Given the description of an element on the screen output the (x, y) to click on. 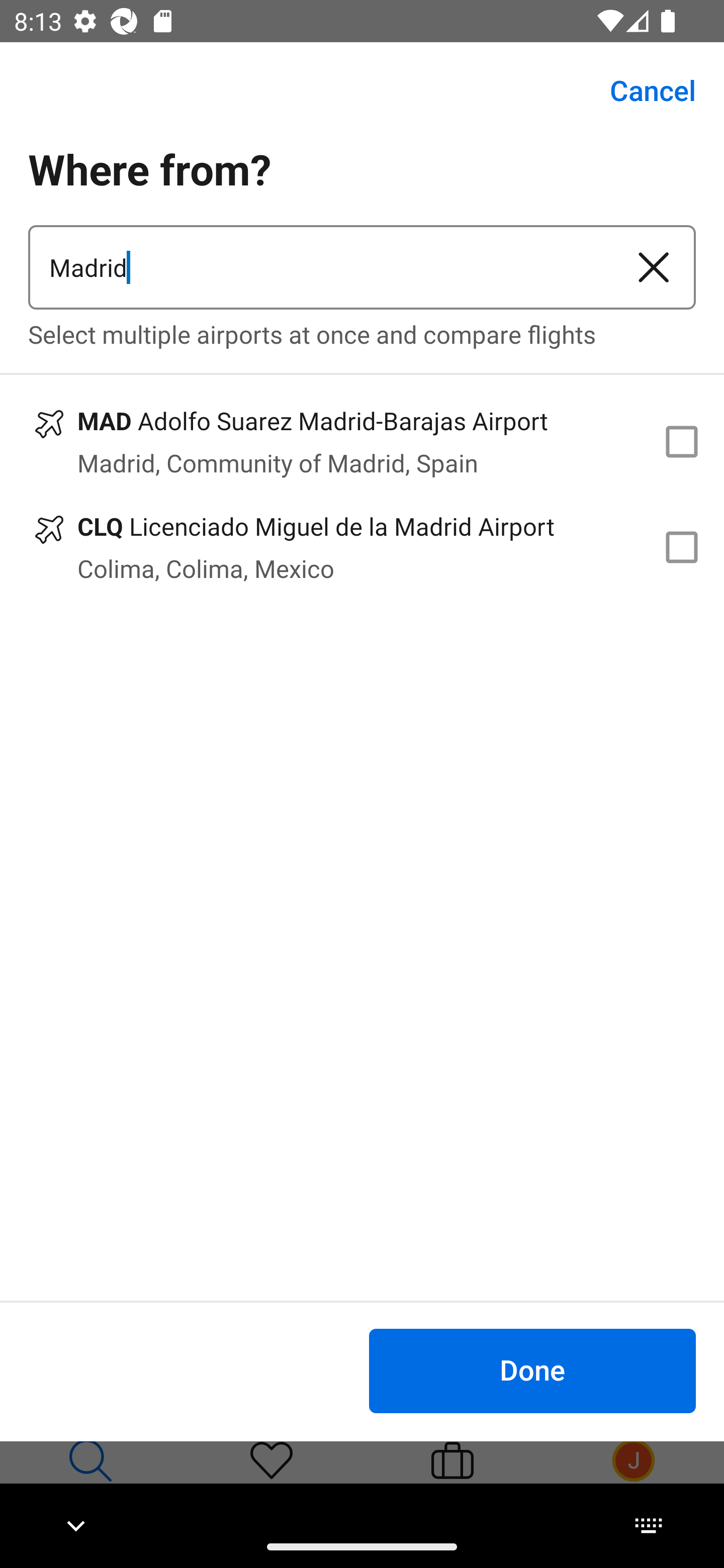
Cancel (641, 90)
Madrid (319, 266)
Clear airport or city (653, 266)
Done (532, 1370)
